Given the description of an element on the screen output the (x, y) to click on. 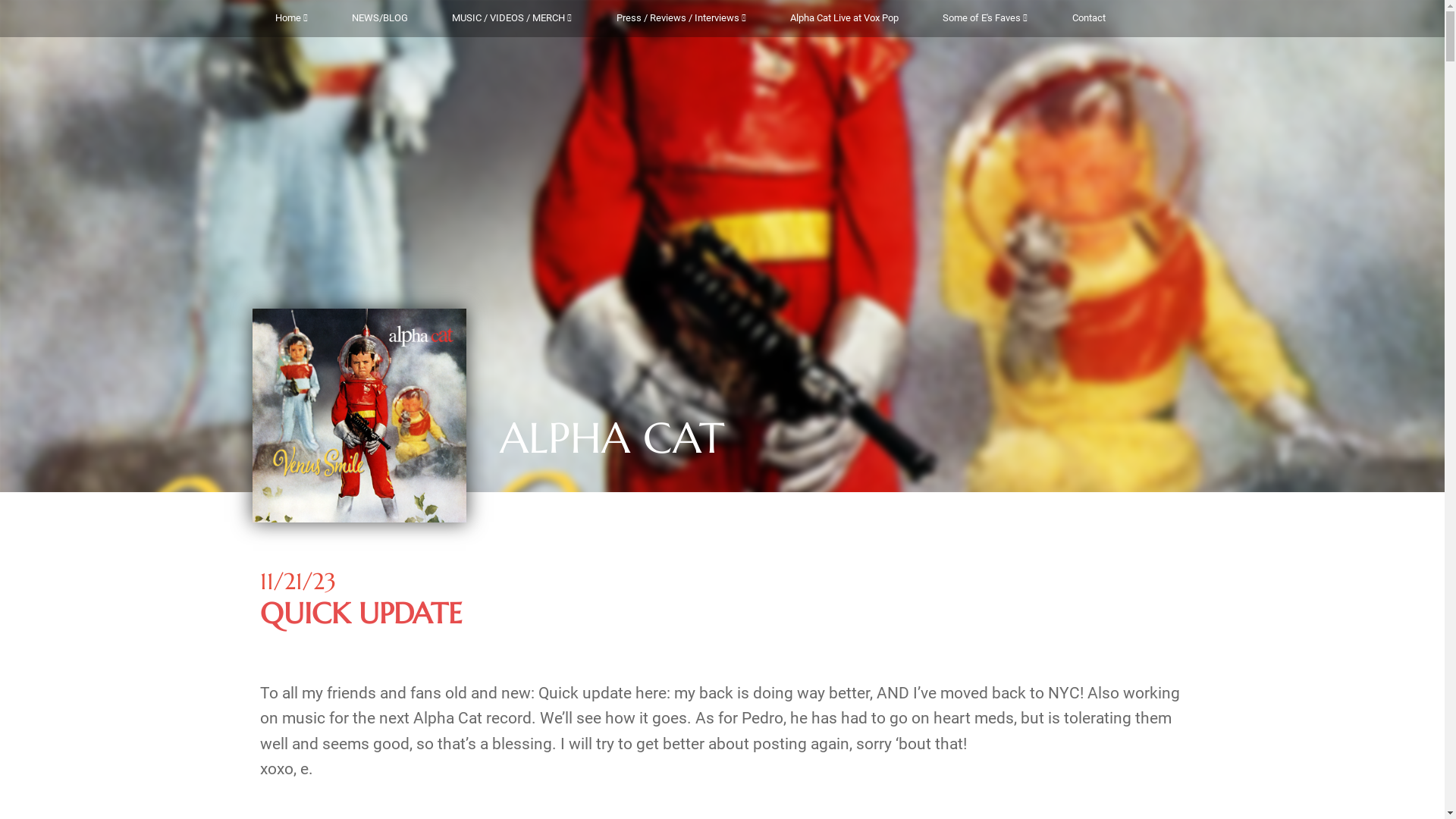
Alpha Cat Live at Vox Pop Element type: text (844, 18)
Home Element type: text (290, 18)
MUSIC / VIDEOS / MERCH Element type: text (511, 18)
Contact Element type: text (1088, 18)
ALPHA CAT Element type: text (611, 446)
Some of E's Faves Element type: text (984, 18)
NEWS/BLOG Element type: text (379, 18)
Press / Reviews / Interviews Element type: text (681, 18)
